Given the description of an element on the screen output the (x, y) to click on. 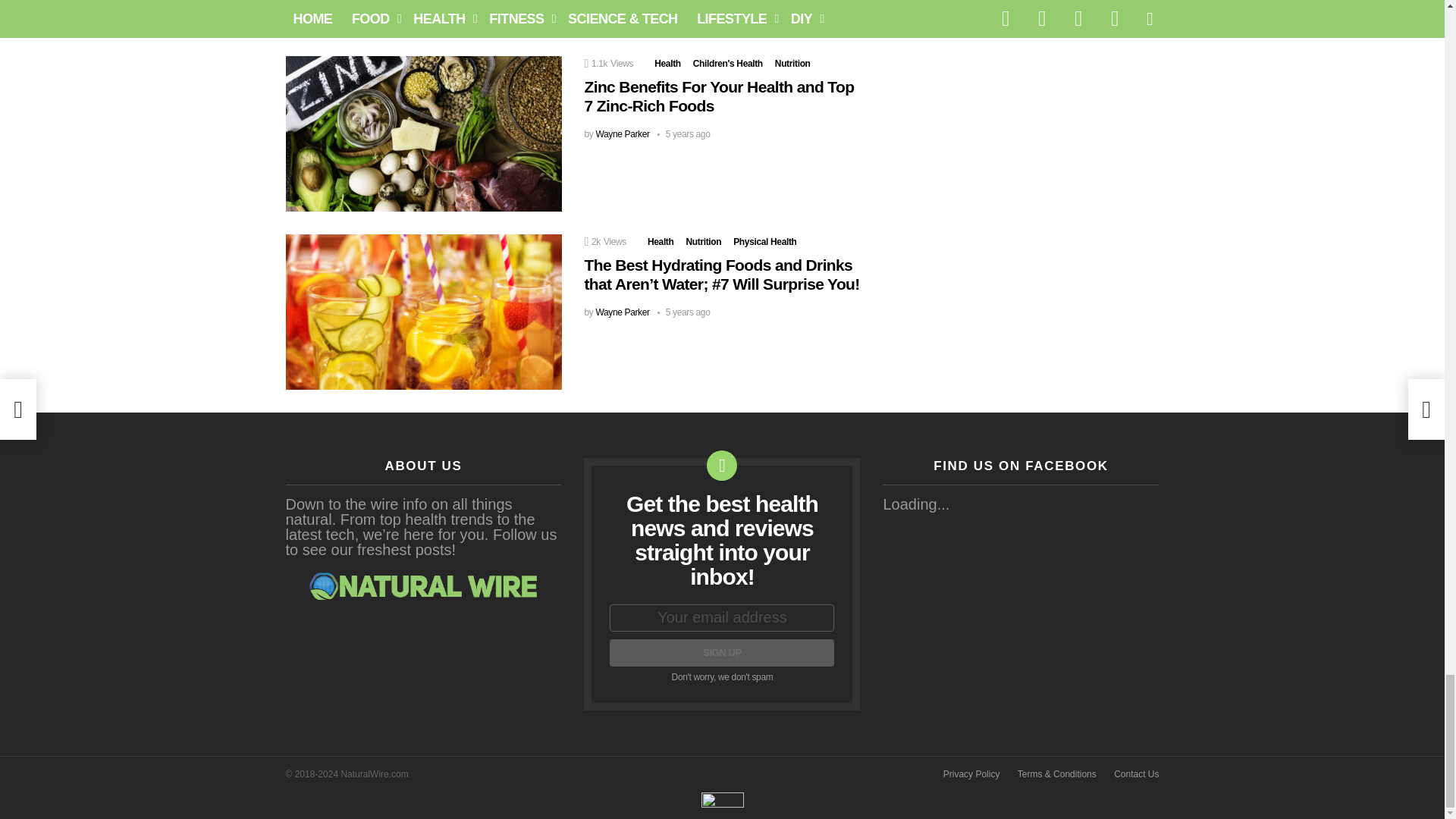
Sign up (722, 652)
